Given the description of an element on the screen output the (x, y) to click on. 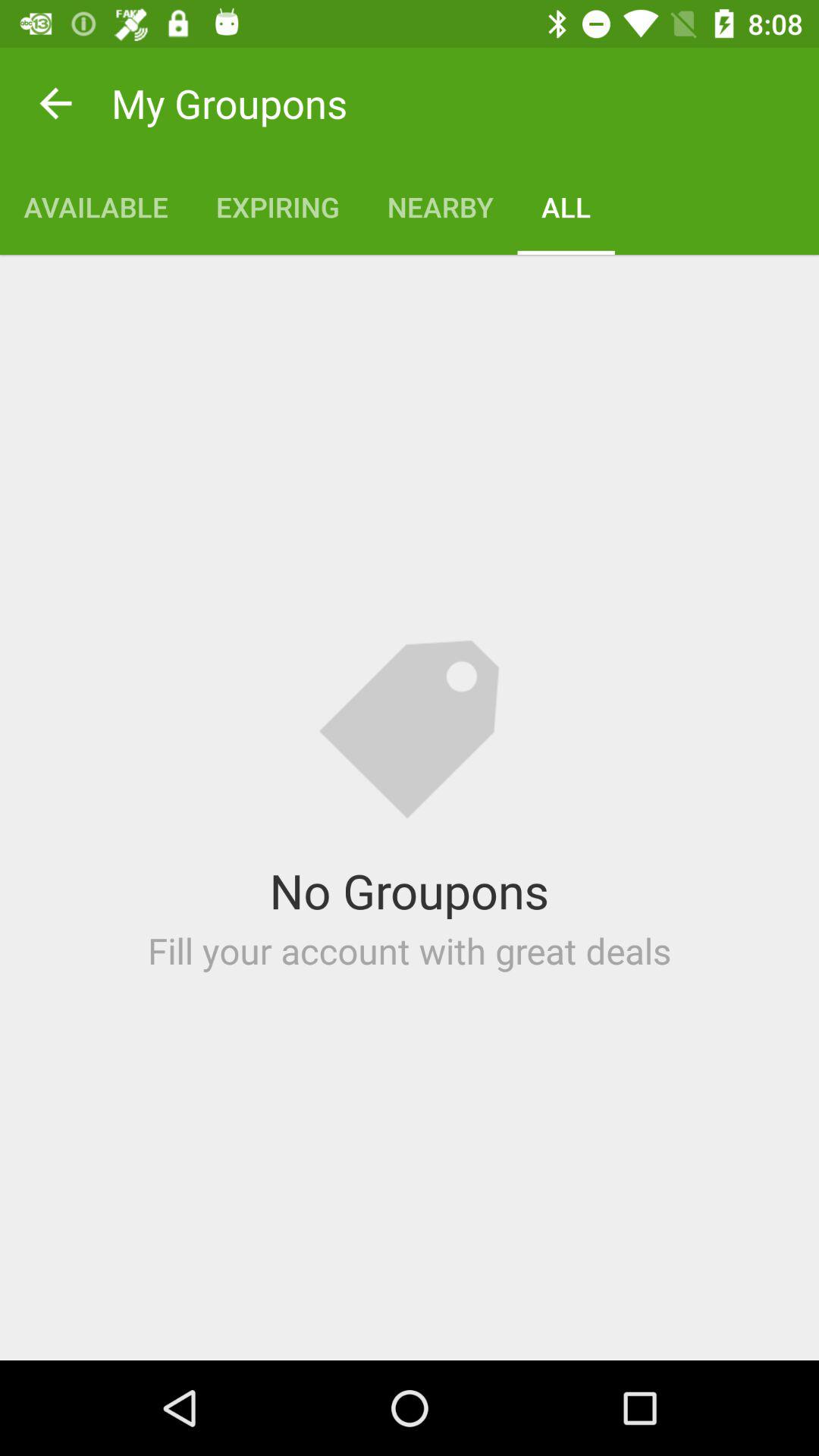
open the item to the left of the my groupons item (55, 103)
